Given the description of an element on the screen output the (x, y) to click on. 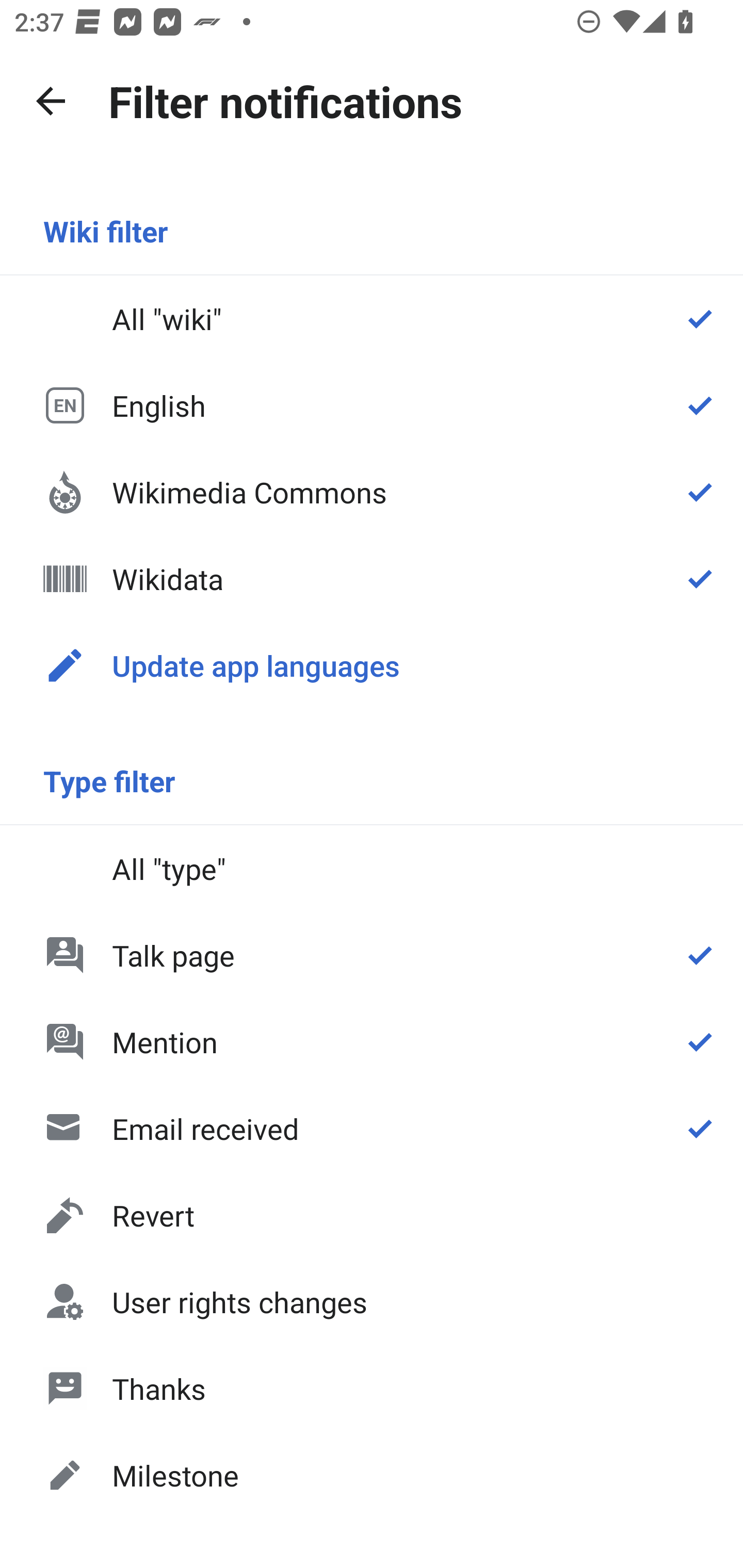
Navigate up (50, 101)
All "wiki" (371, 318)
EN English (371, 405)
Wikimedia Commons (371, 491)
Wikidata (371, 578)
Update app languages (371, 665)
All "type" (371, 868)
Talk page (371, 955)
Mention (371, 1041)
Email received (371, 1128)
Revert (371, 1215)
User rights changes (371, 1302)
Thanks (371, 1388)
Milestone (371, 1474)
